Given the description of an element on the screen output the (x, y) to click on. 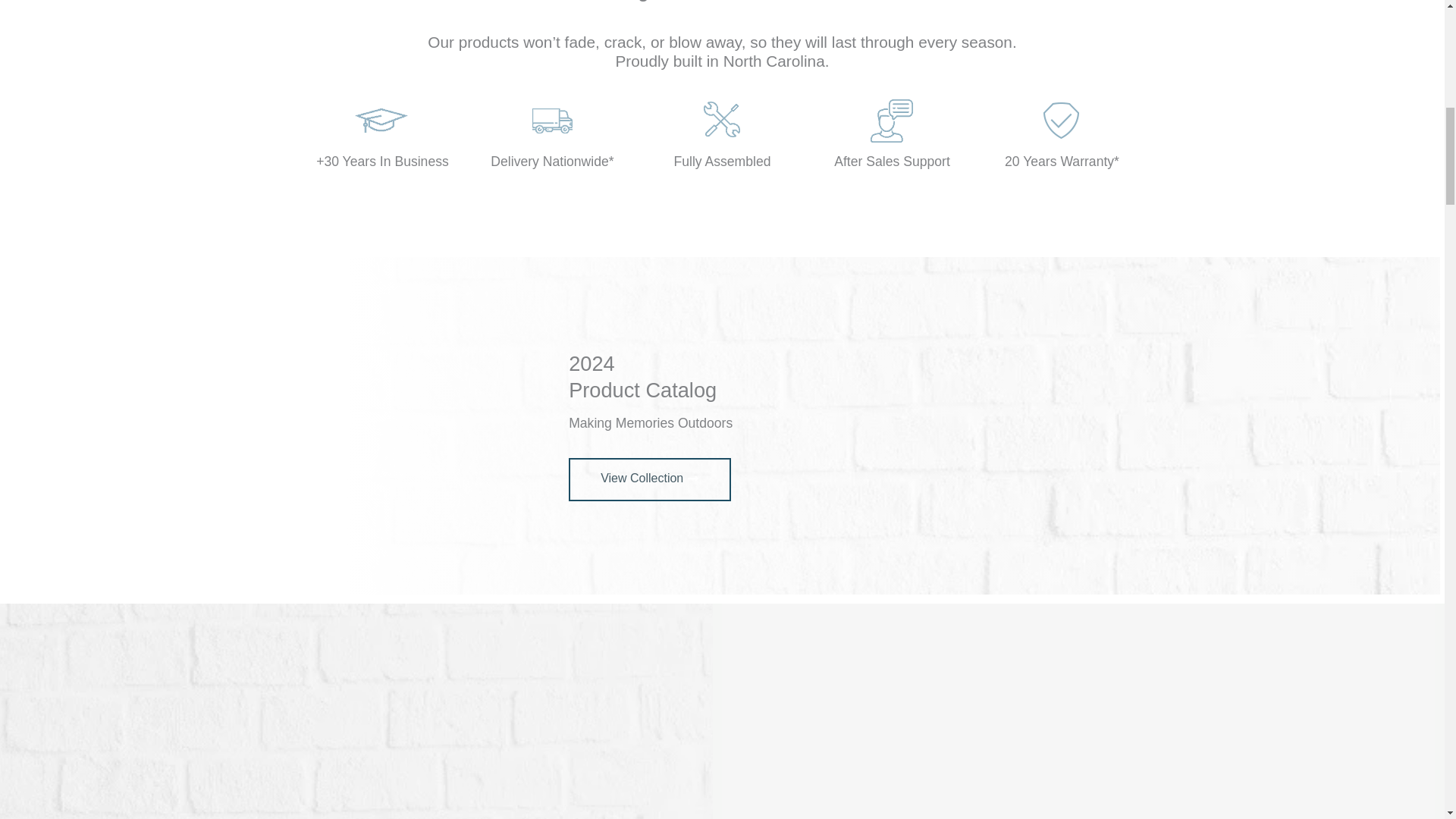
Fully Assembled (721, 160)
After Sales Support (892, 160)
View Collection (649, 479)
